Given the description of an element on the screen output the (x, y) to click on. 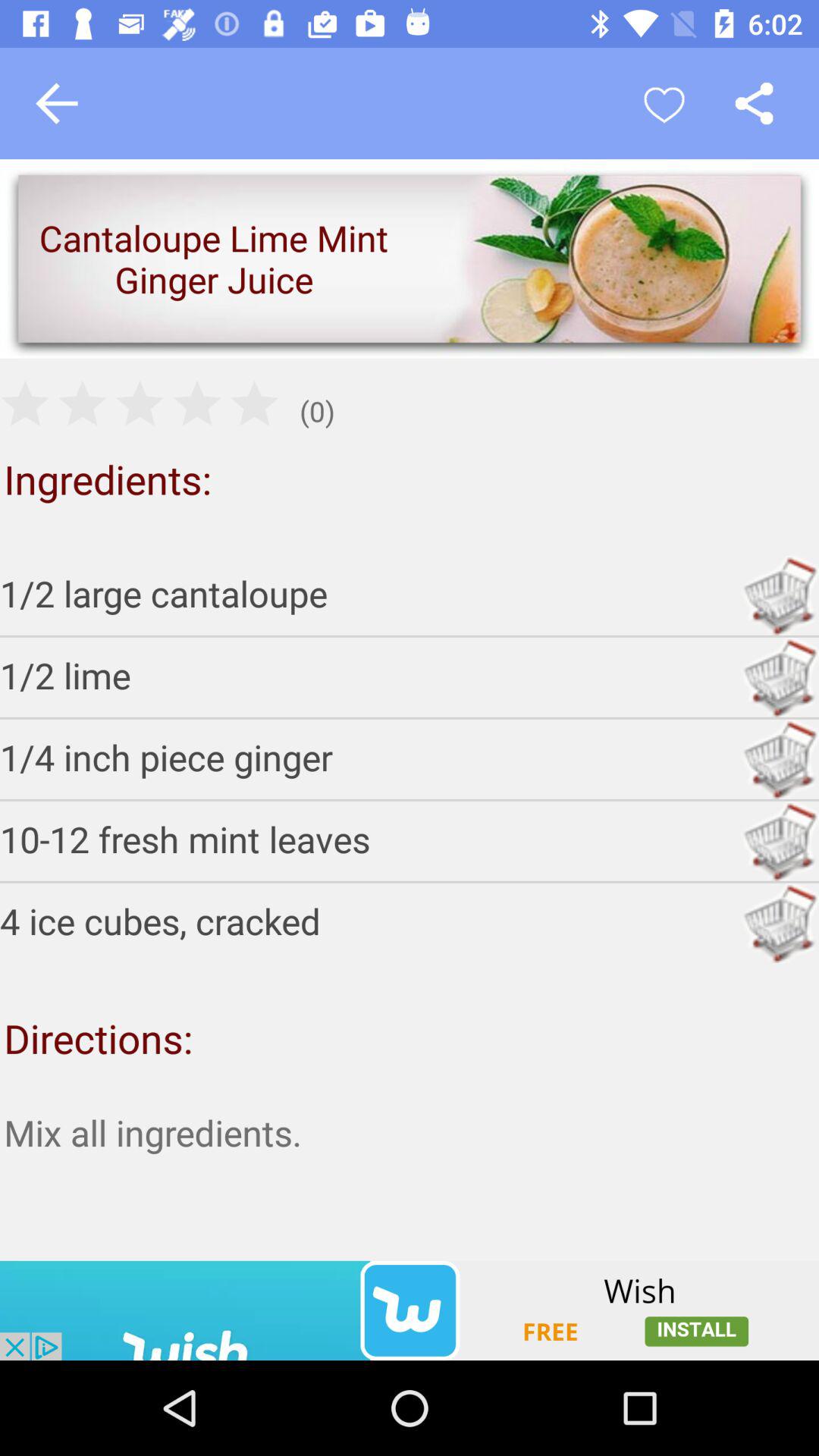
like simple (664, 103)
